Given the description of an element on the screen output the (x, y) to click on. 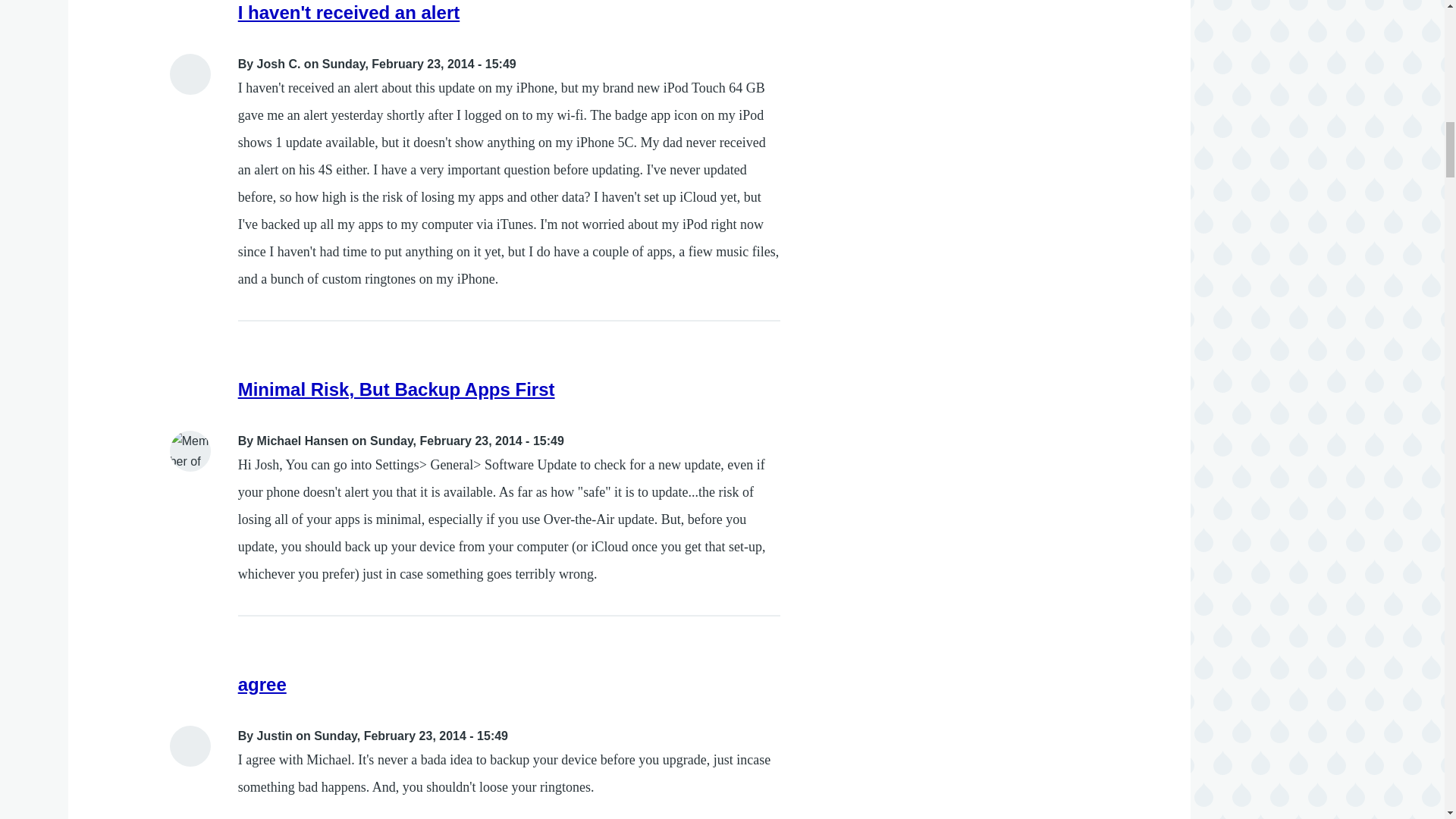
agree (262, 684)
I haven't received an alert (349, 12)
Minimal Risk, But Backup Apps First (396, 389)
